Given the description of an element on the screen output the (x, y) to click on. 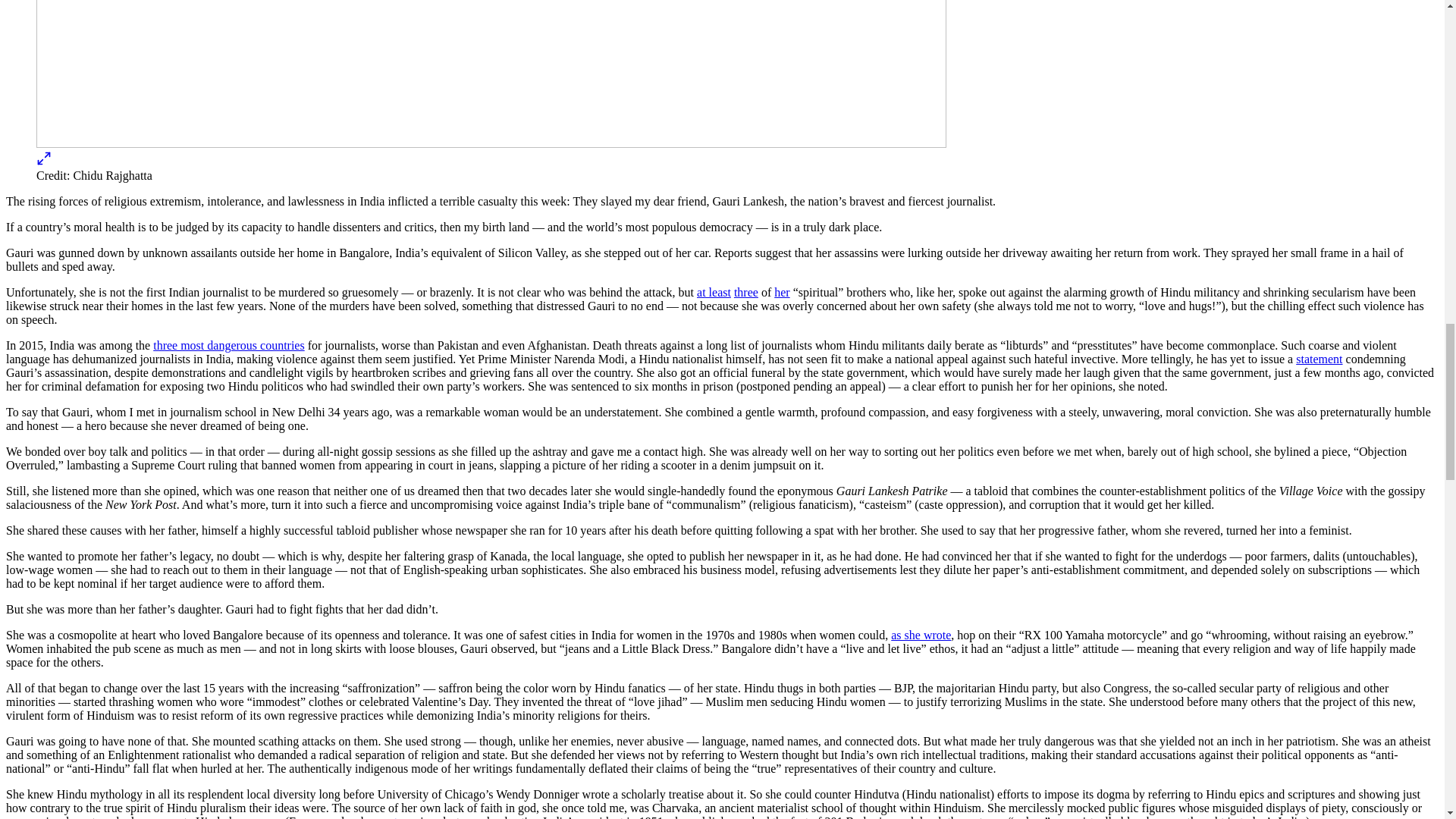
three (745, 291)
statement (1318, 358)
at least (713, 291)
as she wrote (920, 634)
three most dangerous countries (228, 345)
her (781, 291)
wrote (389, 816)
